Given the description of an element on the screen output the (x, y) to click on. 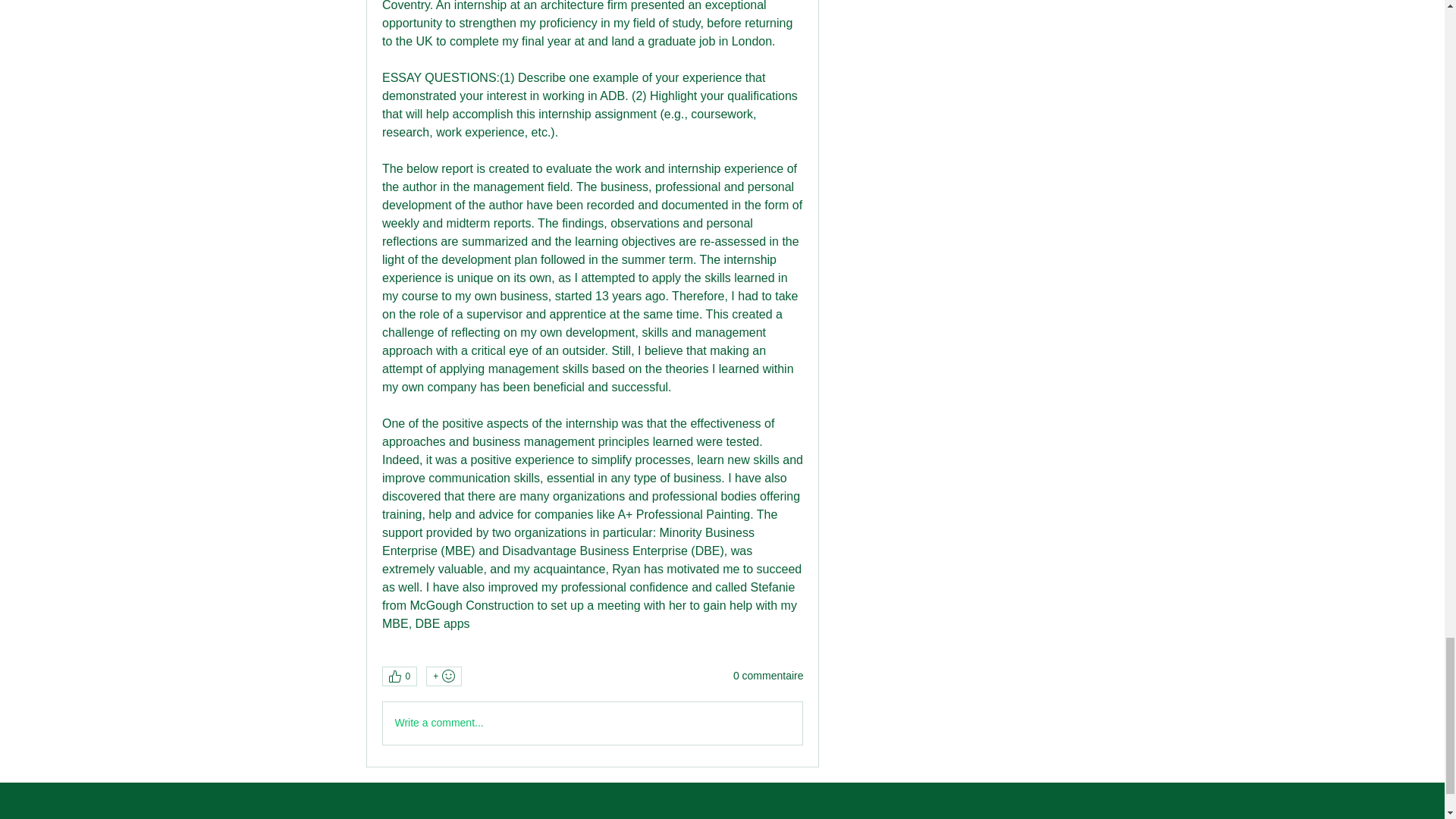
Write a comment... (591, 722)
0 commentaire (768, 676)
